Given the description of an element on the screen output the (x, y) to click on. 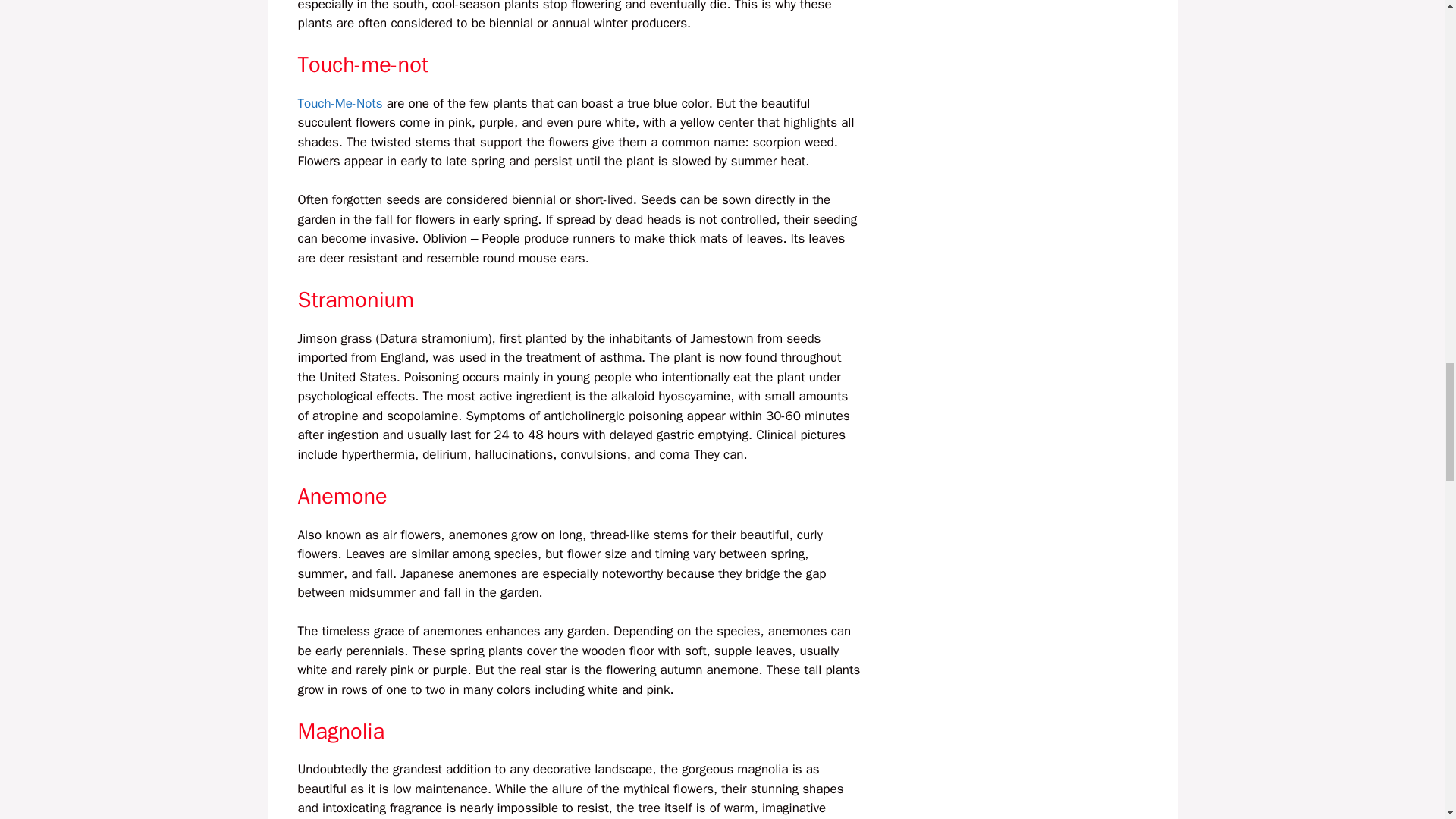
Touch-Me-Nots (339, 103)
